Given the description of an element on the screen output the (x, y) to click on. 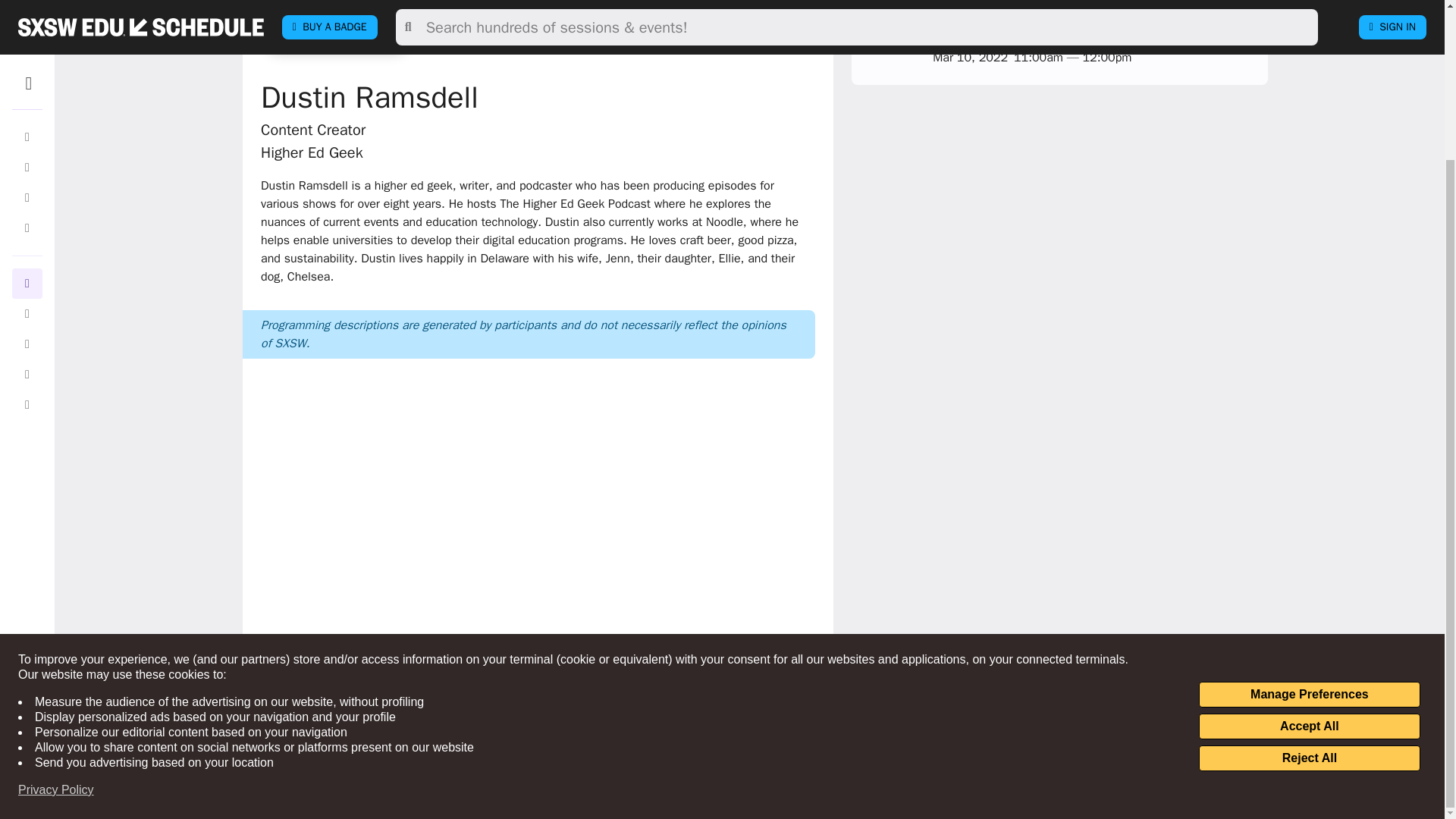
Privacy Policy (55, 601)
Reject All (1309, 570)
Help (550, 779)
Accept All (1309, 538)
Manage Preferences (1309, 506)
